Given the description of an element on the screen output the (x, y) to click on. 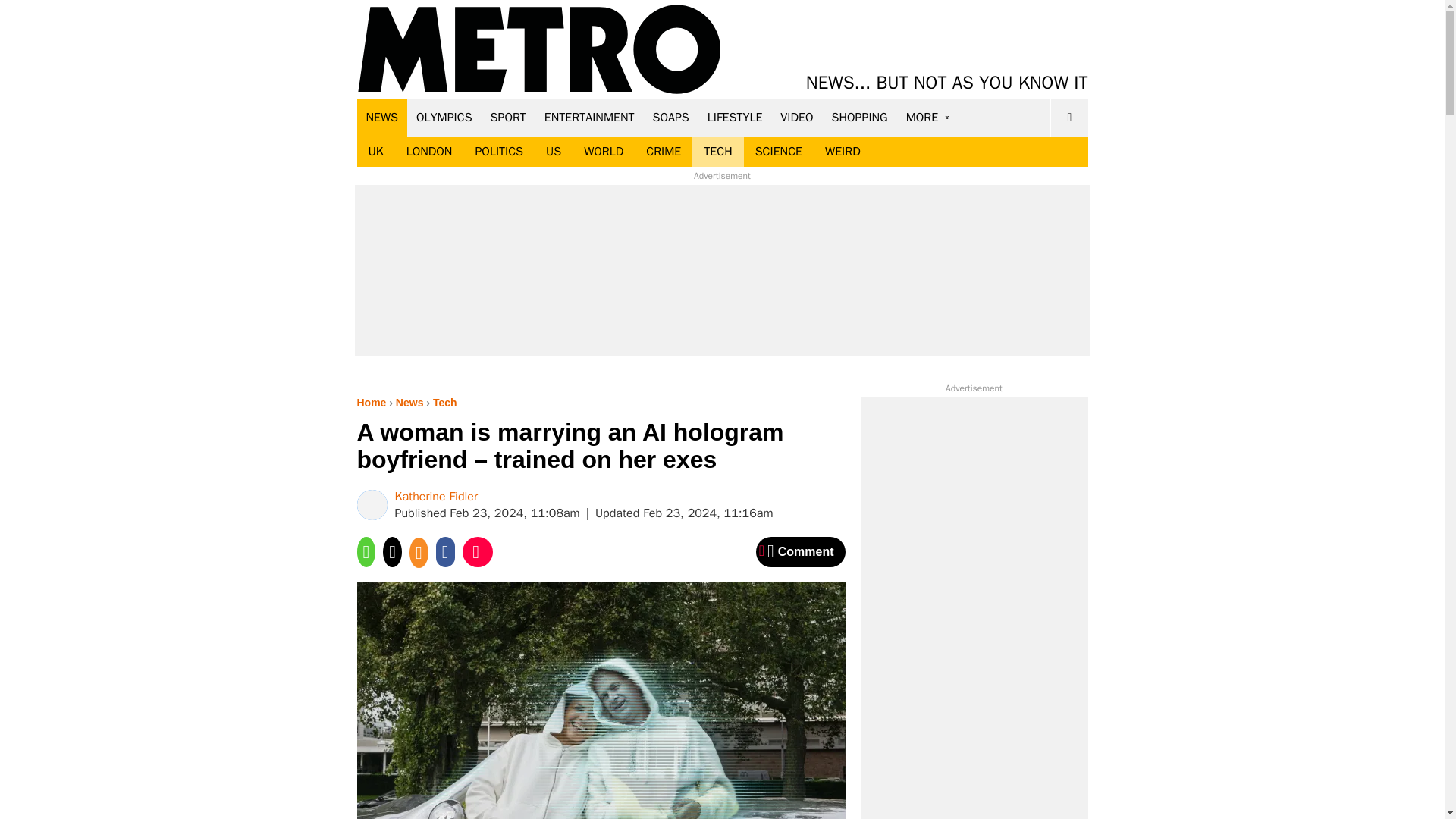
WEIRD (842, 151)
ENTERTAINMENT (589, 117)
US (553, 151)
Metro (539, 50)
SCIENCE (778, 151)
WORLD (603, 151)
TECH (717, 151)
NEWS (381, 117)
SOAPS (670, 117)
UK (375, 151)
